Given the description of an element on the screen output the (x, y) to click on. 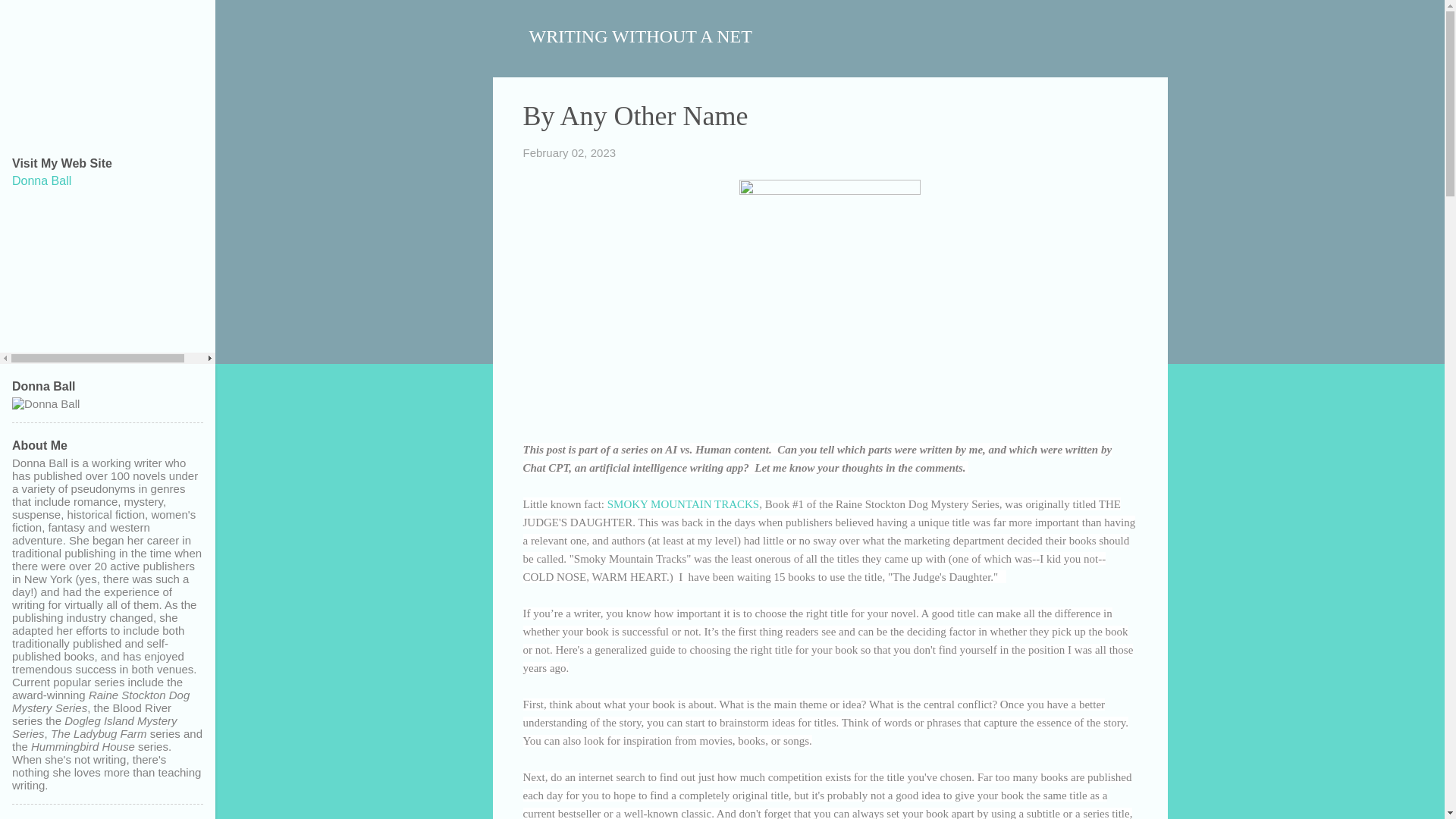
SMOKY MOUNTAIN TRACKS (683, 503)
Donna Ball (41, 180)
Search (29, 18)
permanent link (568, 152)
February 02, 2023 (568, 152)
WRITING WITHOUT A NET (640, 35)
